Given the description of an element on the screen output the (x, y) to click on. 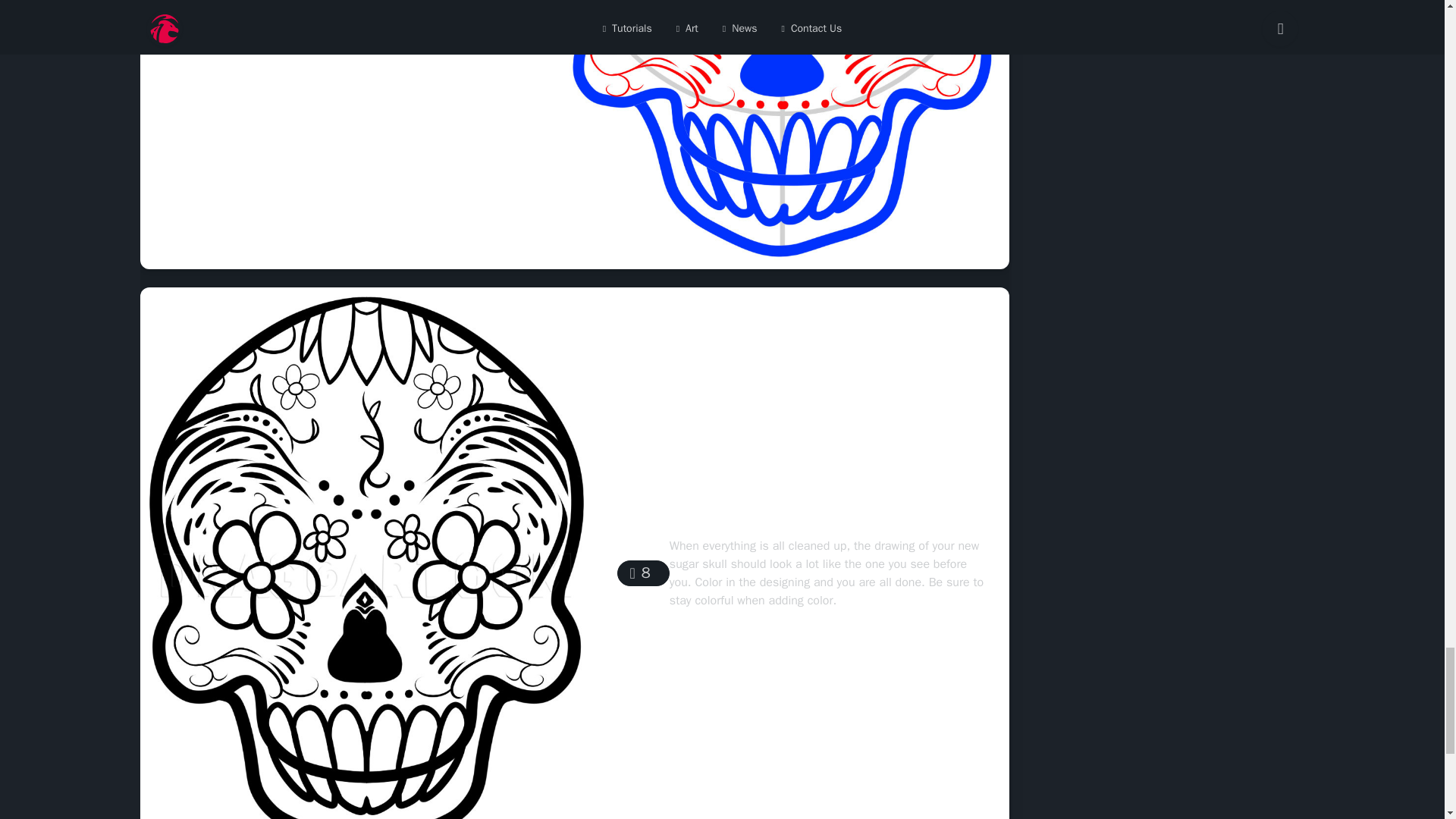
more (317, 19)
